Given the description of an element on the screen output the (x, y) to click on. 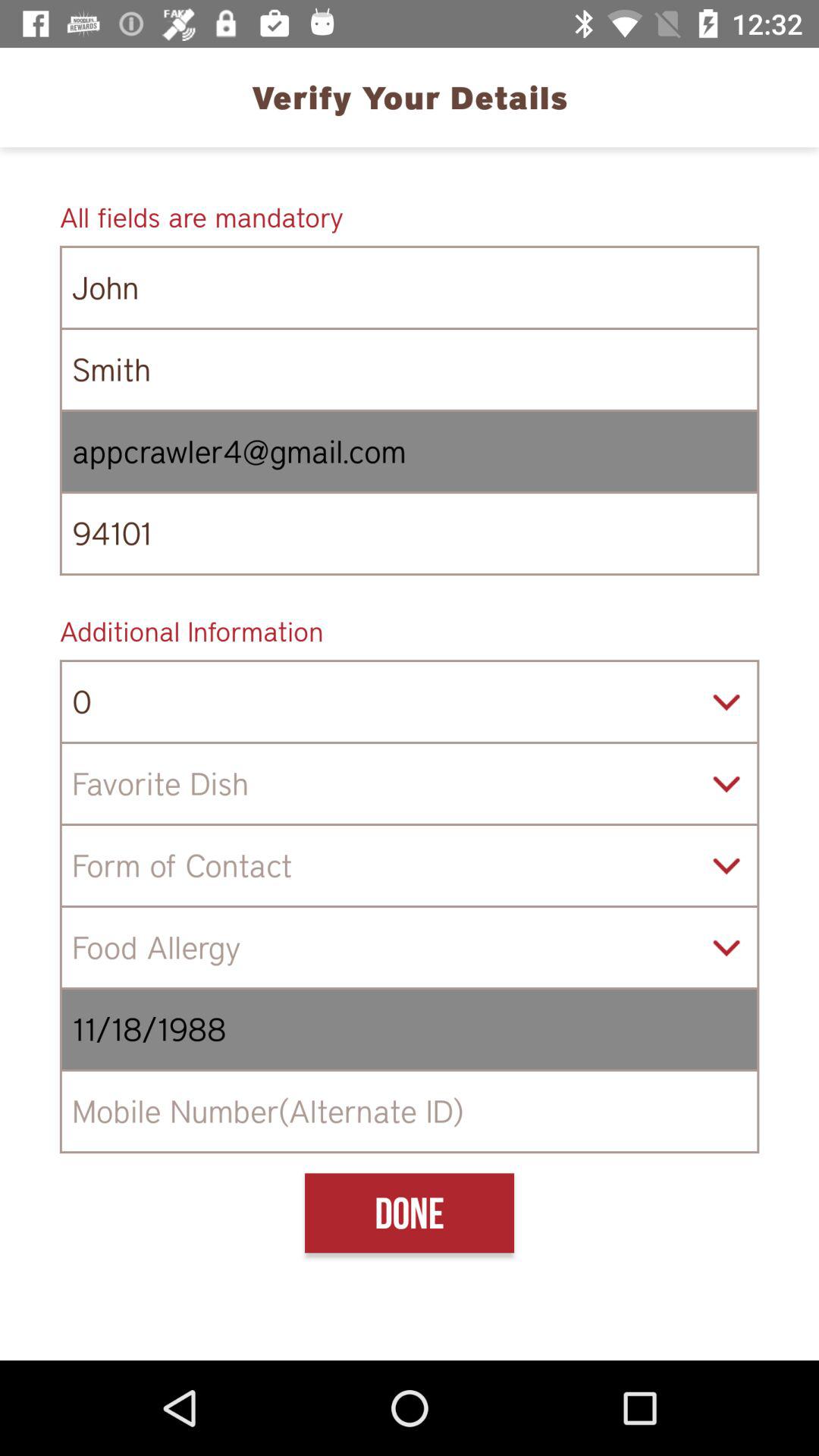
swipe to smith icon (409, 369)
